Given the description of an element on the screen output the (x, y) to click on. 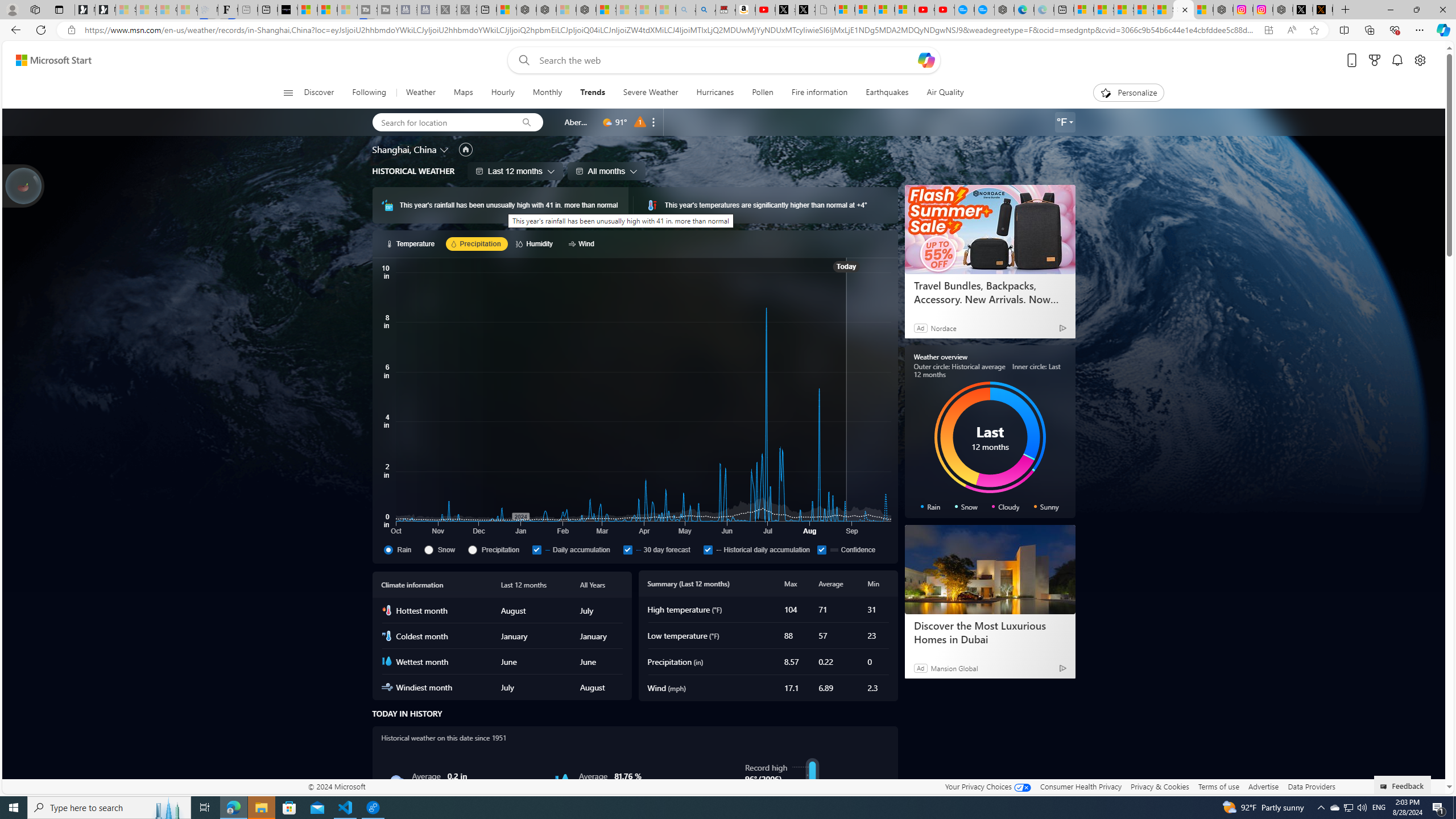
Fire information (818, 92)
30 day forecast (660, 549)
Personalize (1128, 92)
Terms of use (1218, 786)
Hourly (502, 92)
Open settings (1420, 60)
All months (606, 170)
